Given the description of an element on the screen output the (x, y) to click on. 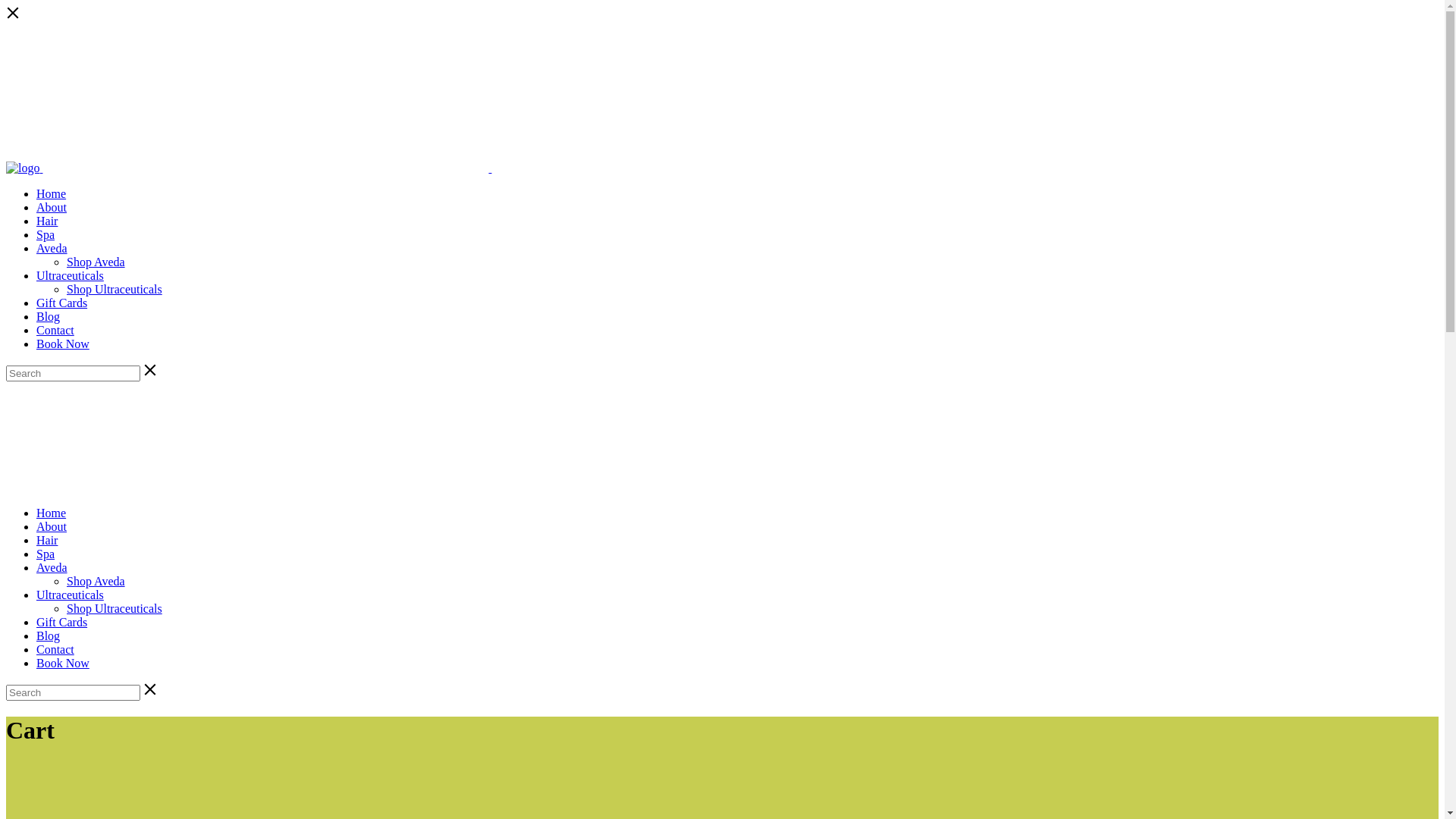
Ultraceuticals Element type: text (69, 594)
Aveda Element type: text (51, 247)
Book Now Element type: text (62, 662)
About Element type: text (51, 526)
Spa Element type: text (45, 553)
Blog Element type: text (47, 316)
Hair Element type: text (46, 220)
Contact Element type: text (55, 329)
Shop Aveda Element type: text (95, 580)
About Element type: text (51, 206)
Aveda Element type: text (51, 567)
Blog Element type: text (47, 635)
Ultraceuticals Element type: text (69, 275)
Gift Cards Element type: text (61, 621)
Gift Cards Element type: text (61, 302)
+61 (2) 8399 3814 Element type: text (67, 41)
Spa Element type: text (45, 234)
Contact Element type: text (55, 649)
Hair Element type: text (46, 539)
Home Element type: text (50, 512)
Home Element type: text (50, 193)
Shop Ultraceuticals Element type: text (114, 608)
Shop Aveda Element type: text (95, 261)
Shop Ultraceuticals Element type: text (114, 288)
Book Now Element type: text (62, 343)
